Given the description of an element on the screen output the (x, y) to click on. 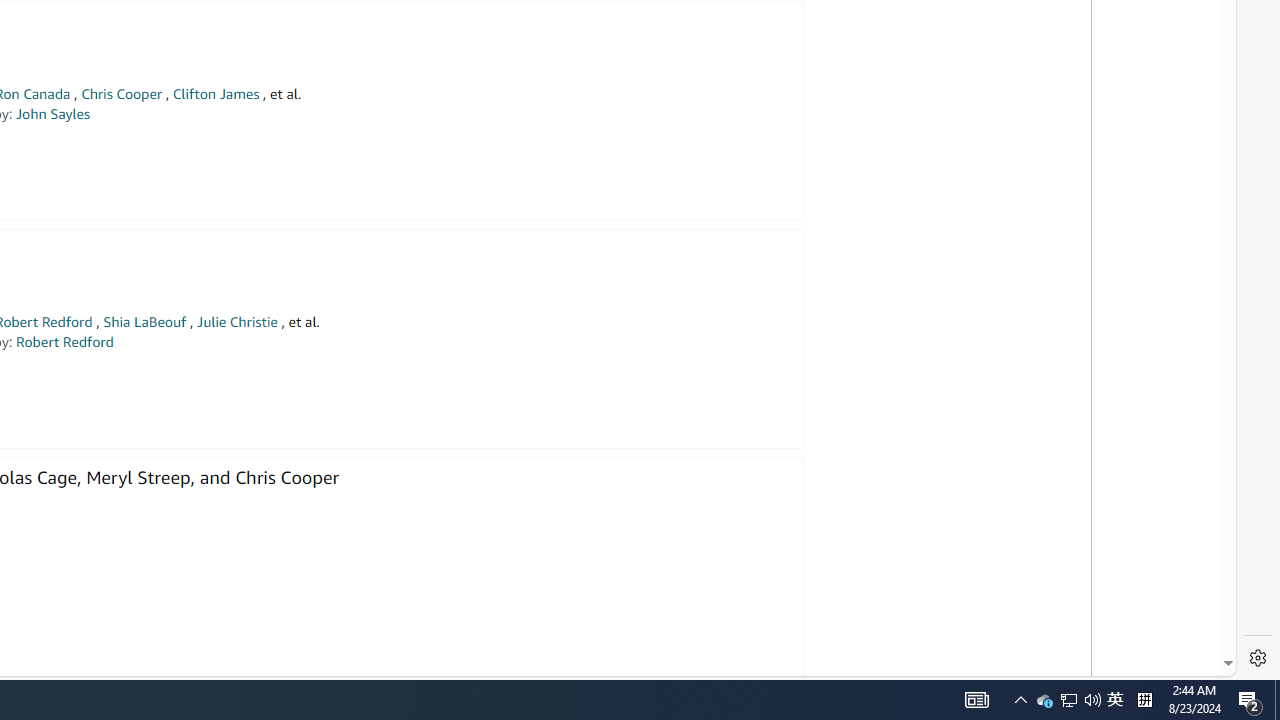
John Sayles (52, 114)
Robert Redford (64, 342)
Julie Christie (237, 322)
Clifton James (215, 93)
Shia LaBeouf (144, 322)
Chris Cooper (121, 93)
